Given the description of an element on the screen output the (x, y) to click on. 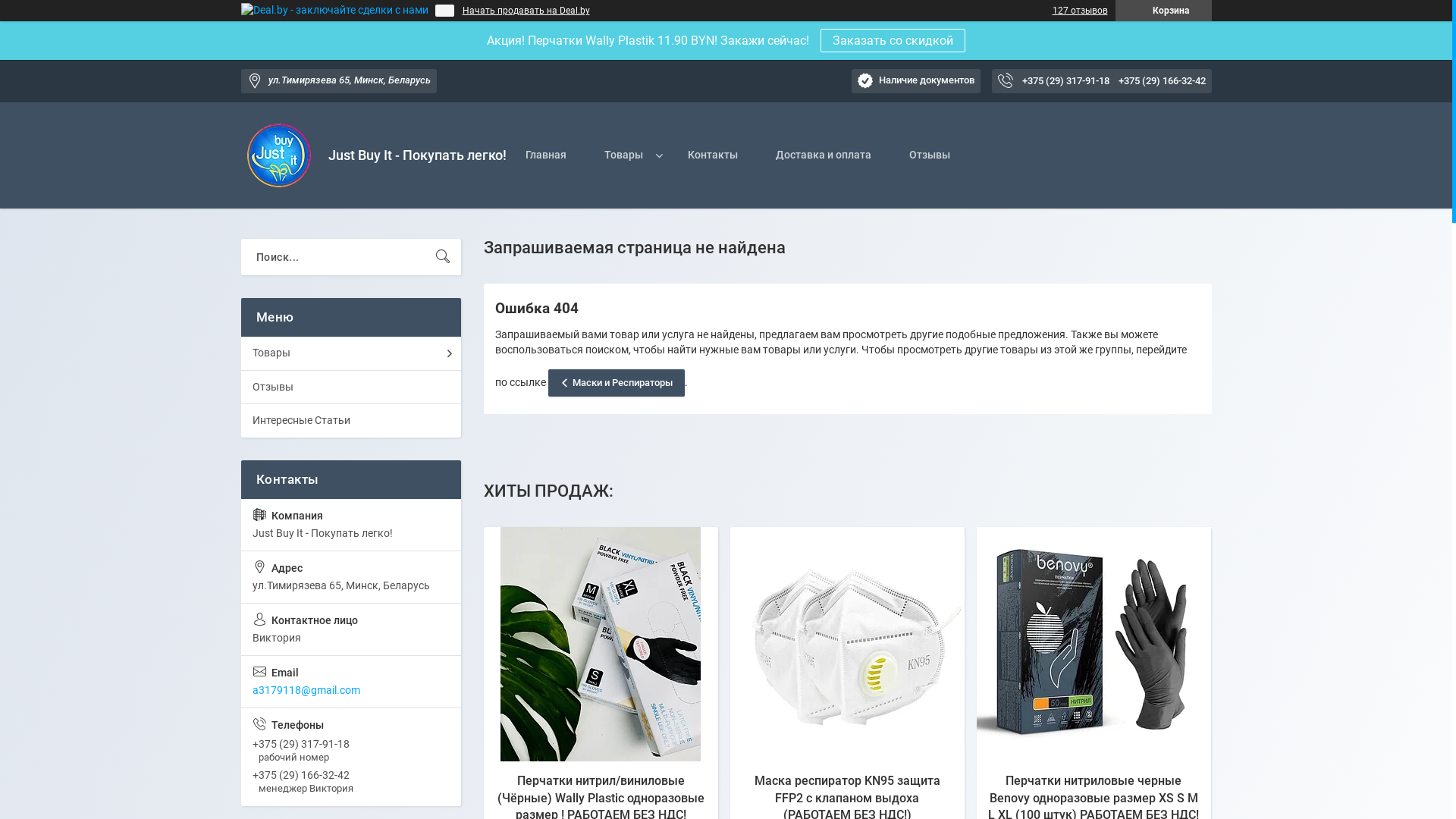
a3179118@gmail.com Element type: text (351, 681)
